Given the description of an element on the screen output the (x, y) to click on. 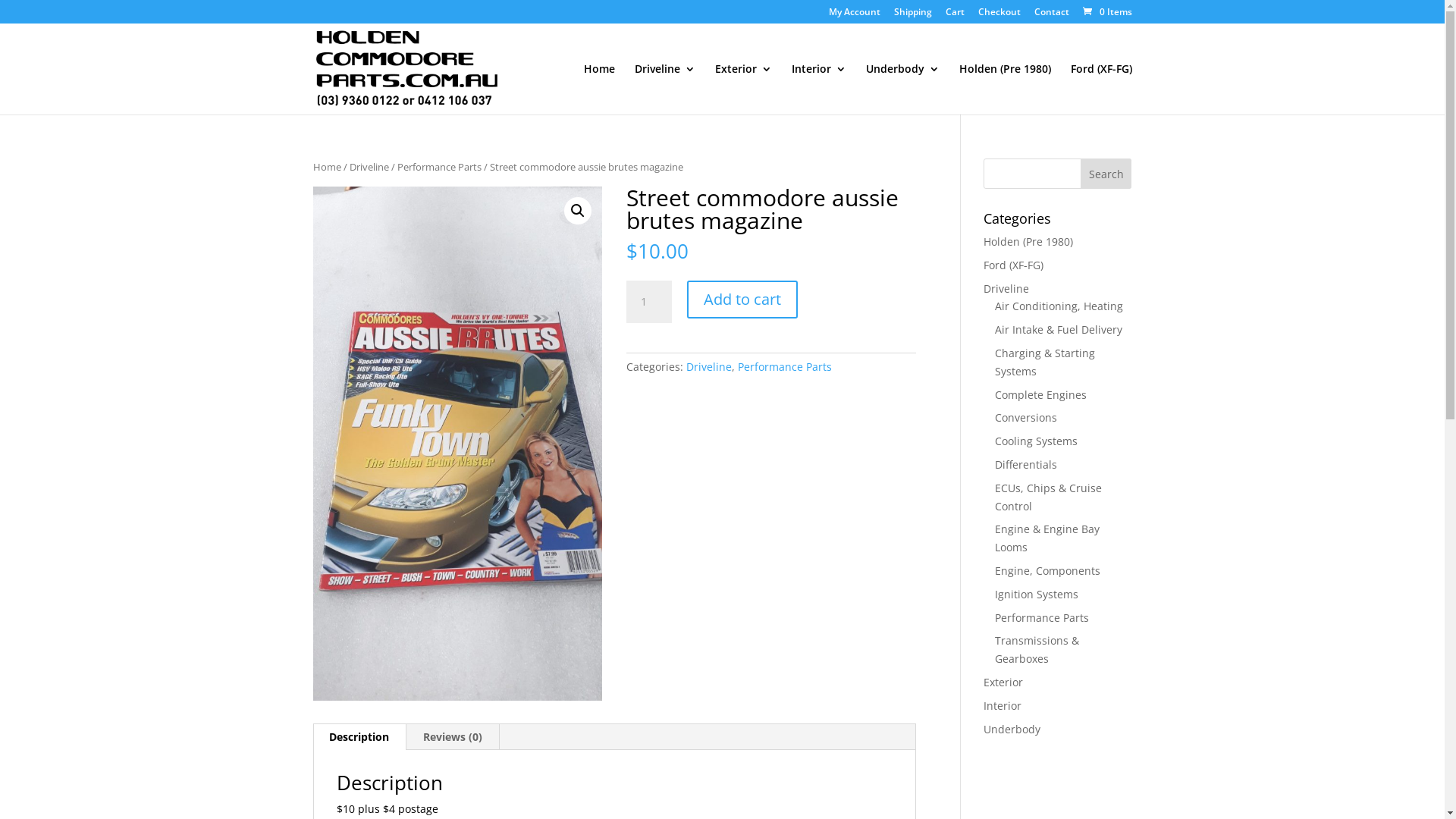
Air Conditioning, Heating Element type: text (1058, 305)
Ignition Systems Element type: text (1036, 593)
Search Element type: text (1106, 173)
Engine, Components Element type: text (1047, 570)
Home Element type: text (599, 88)
Differentials Element type: text (1025, 464)
My Account Element type: text (853, 15)
Interior Element type: text (818, 88)
0 Items Element type: text (1105, 11)
Driveline Element type: text (1006, 288)
Home Element type: text (326, 166)
Checkout Element type: text (999, 15)
Cart Element type: text (953, 15)
Performance Parts Element type: text (439, 166)
Interior Element type: text (1002, 705)
Engine & Engine Bay Looms Element type: text (1046, 537)
Underbody Element type: text (902, 88)
Cooling Systems Element type: text (1035, 440)
ECUs, Chips & Cruise Control Element type: text (1047, 496)
Holden (Pre 1980) Element type: text (1028, 241)
Charging & Starting Systems Element type: text (1044, 361)
Holden (Pre 1980) Element type: text (1004, 88)
Contact Element type: text (1051, 15)
Complete Engines Element type: text (1040, 394)
Driveline Element type: text (663, 88)
20181120_143439[4885] Element type: hover (457, 443)
Conversions Element type: text (1025, 417)
Reviews (0) Element type: text (452, 736)
Air Intake & Fuel Delivery Element type: text (1058, 329)
Driveline Element type: text (708, 366)
Underbody Element type: text (1011, 728)
Ford (XF-FG) Element type: text (1013, 264)
Performance Parts Element type: text (784, 366)
Description Element type: text (358, 736)
Ford (XF-FG) Element type: text (1101, 88)
Exterior Element type: text (1002, 681)
Shipping Element type: text (912, 15)
Performance Parts Element type: text (1041, 617)
Add to cart Element type: text (742, 299)
Exterior Element type: text (742, 88)
Driveline Element type: text (368, 166)
Transmissions & Gearboxes Element type: text (1036, 649)
